Given the description of an element on the screen output the (x, y) to click on. 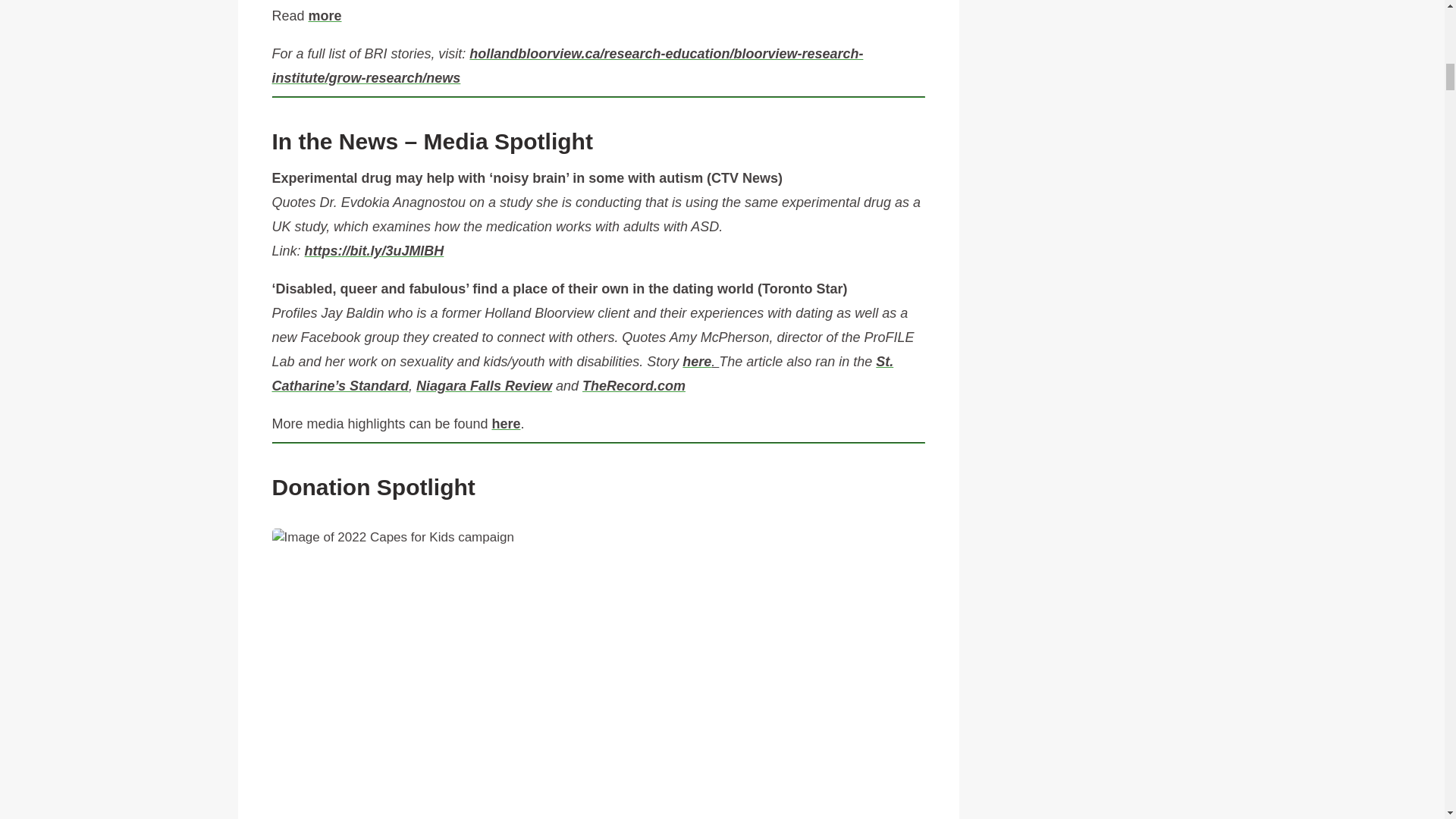
here (696, 361)
more (323, 15)
Niagara Falls Review (483, 385)
here (505, 423)
TheRecord.com (633, 385)
